Given the description of an element on the screen output the (x, y) to click on. 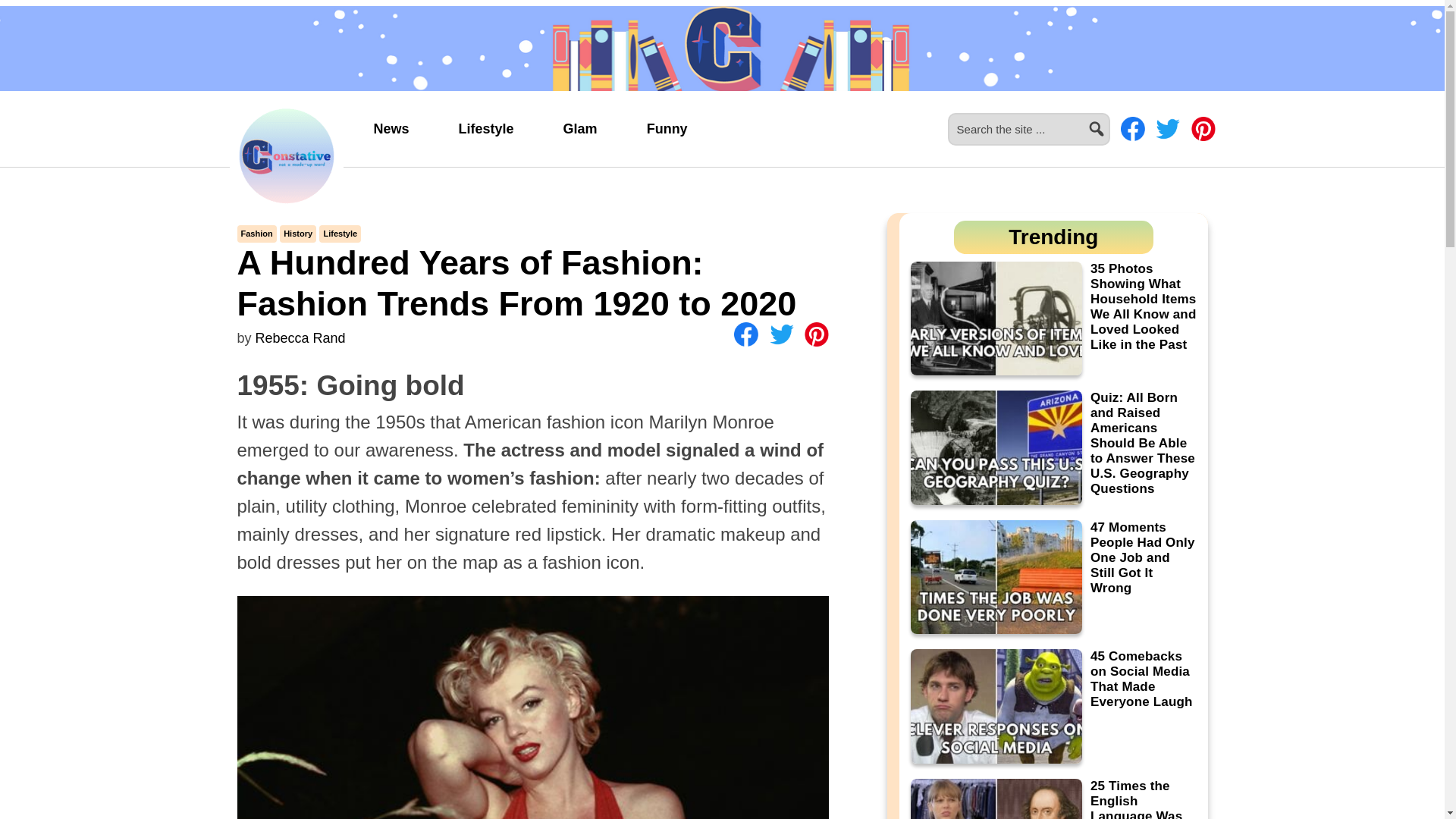
Search (1116, 119)
45 Comebacks on Social Media That Made Everyone Laugh (1053, 706)
Lifestyle (339, 233)
Glam (580, 128)
Lifestyle (486, 128)
History (298, 233)
Entertainment (667, 128)
Rebecca Rand (301, 337)
Funny (667, 128)
Celebrity (580, 128)
